Given the description of an element on the screen output the (x, y) to click on. 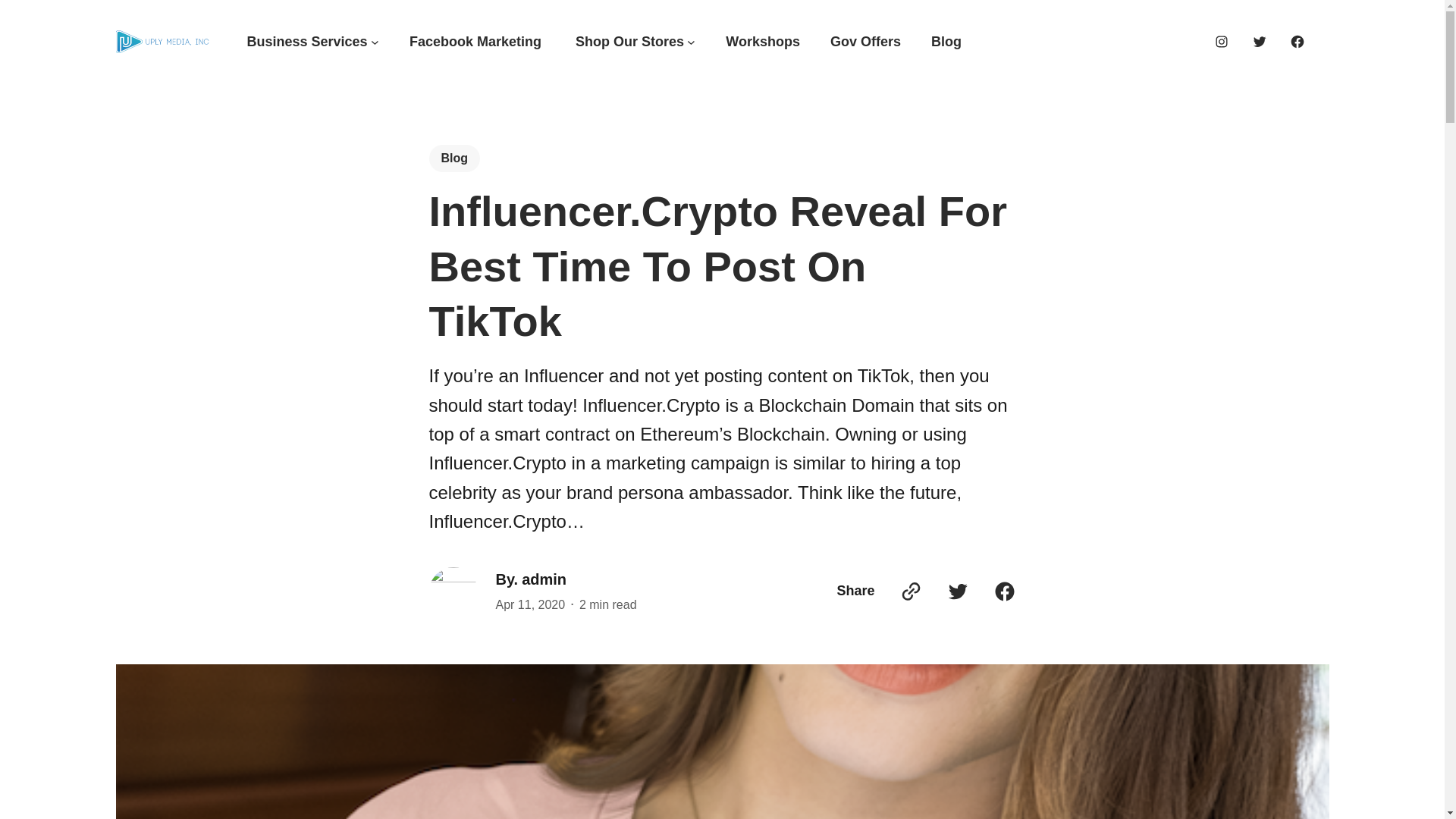
Twitter (957, 590)
Gov Offers (865, 42)
Shop Our Stores (629, 42)
Link (910, 590)
Instagram (1220, 41)
Facebook Marketing  (476, 42)
Facebook (1004, 590)
Facebook (1296, 41)
Workshops (762, 42)
Blog (945, 42)
Blog (454, 157)
Business Services (307, 42)
Twitter (1258, 41)
